Given the description of an element on the screen output the (x, y) to click on. 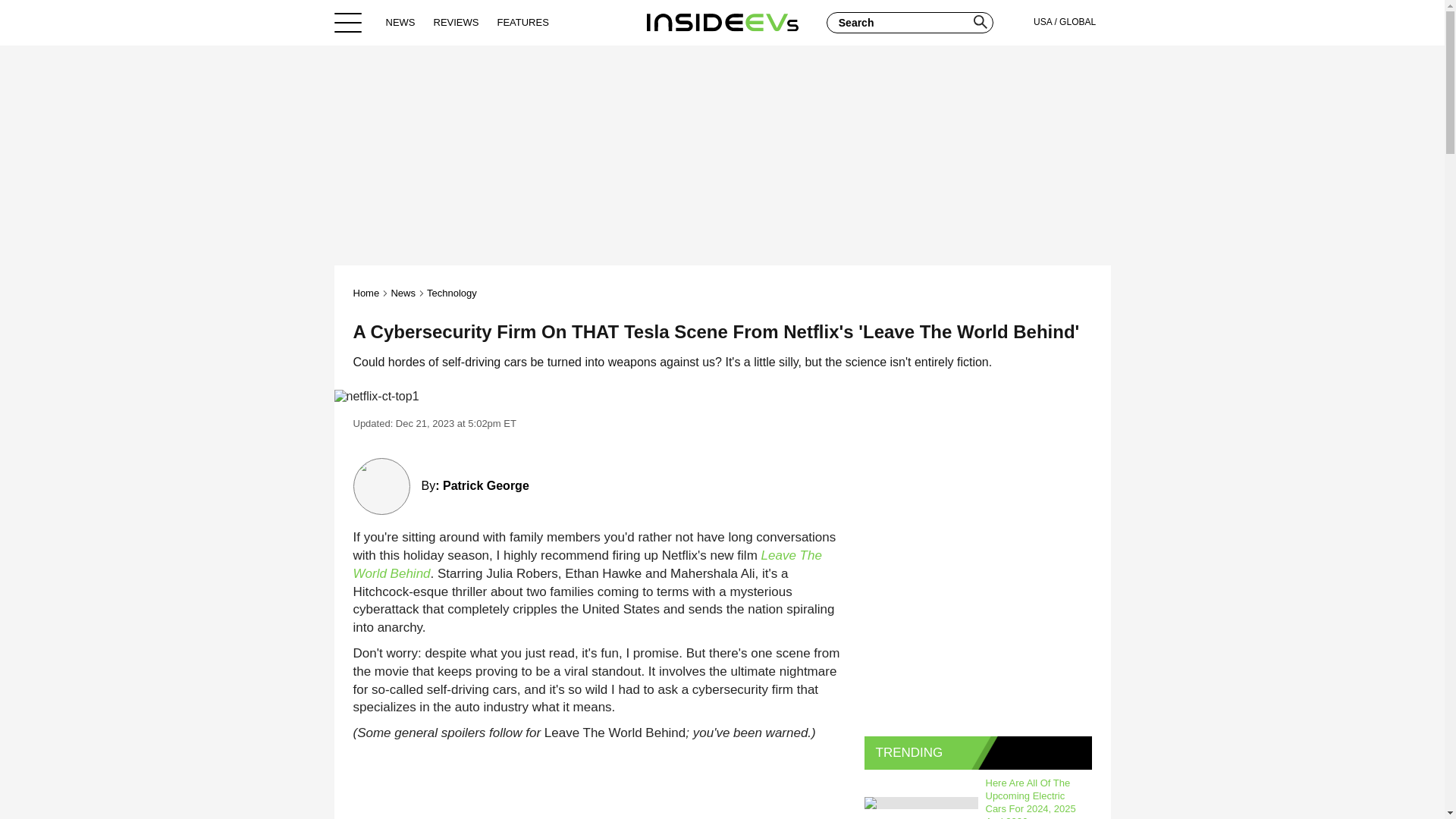
NEWS (399, 22)
REVIEWS (456, 22)
FEATURES (522, 22)
Patrick George (485, 485)
Leave The World Behind (587, 563)
Technology (451, 292)
Home (721, 22)
Home (366, 293)
News (402, 292)
